Given the description of an element on the screen output the (x, y) to click on. 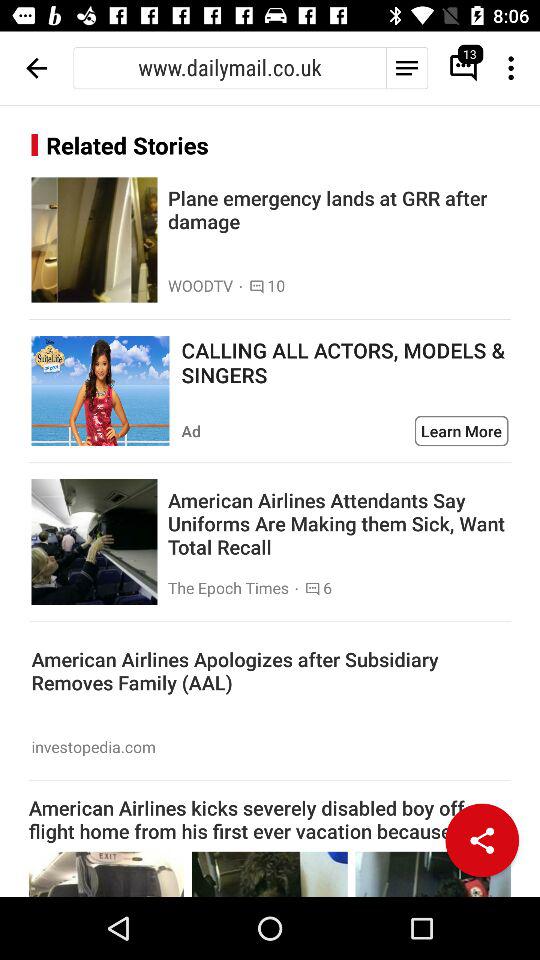
open advertisement (100, 391)
